Given the description of an element on the screen output the (x, y) to click on. 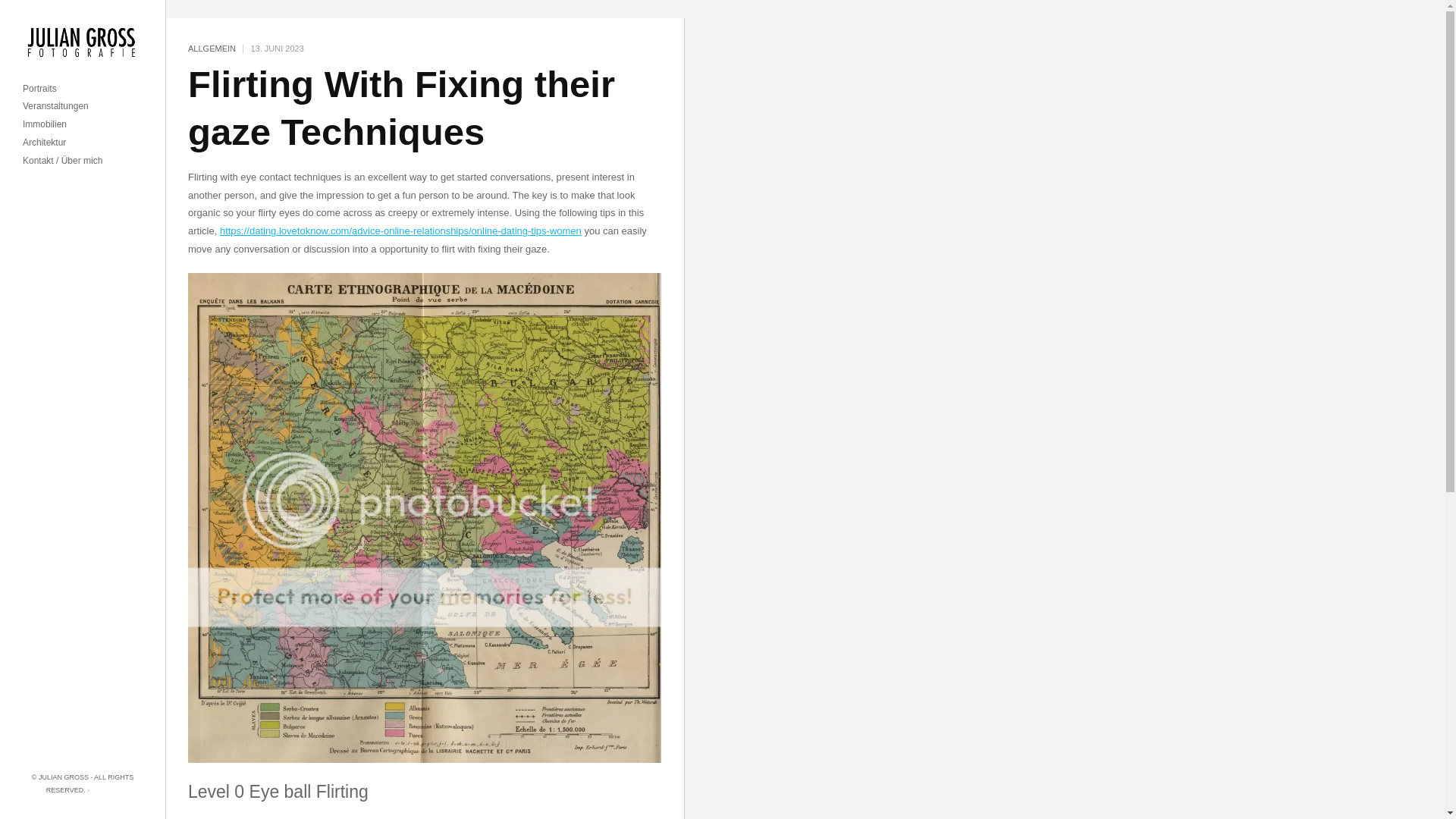
Portraits (39, 89)
Immobilien (44, 124)
Flirting With Fixing their gaze Techniques (400, 108)
Architektur (44, 143)
Permanent Link to Flirting With Fixing their gaze Techniques (400, 108)
IMPRINT (104, 789)
ALLGEMEIN (211, 48)
Veranstaltungen (55, 106)
